Given the description of an element on the screen output the (x, y) to click on. 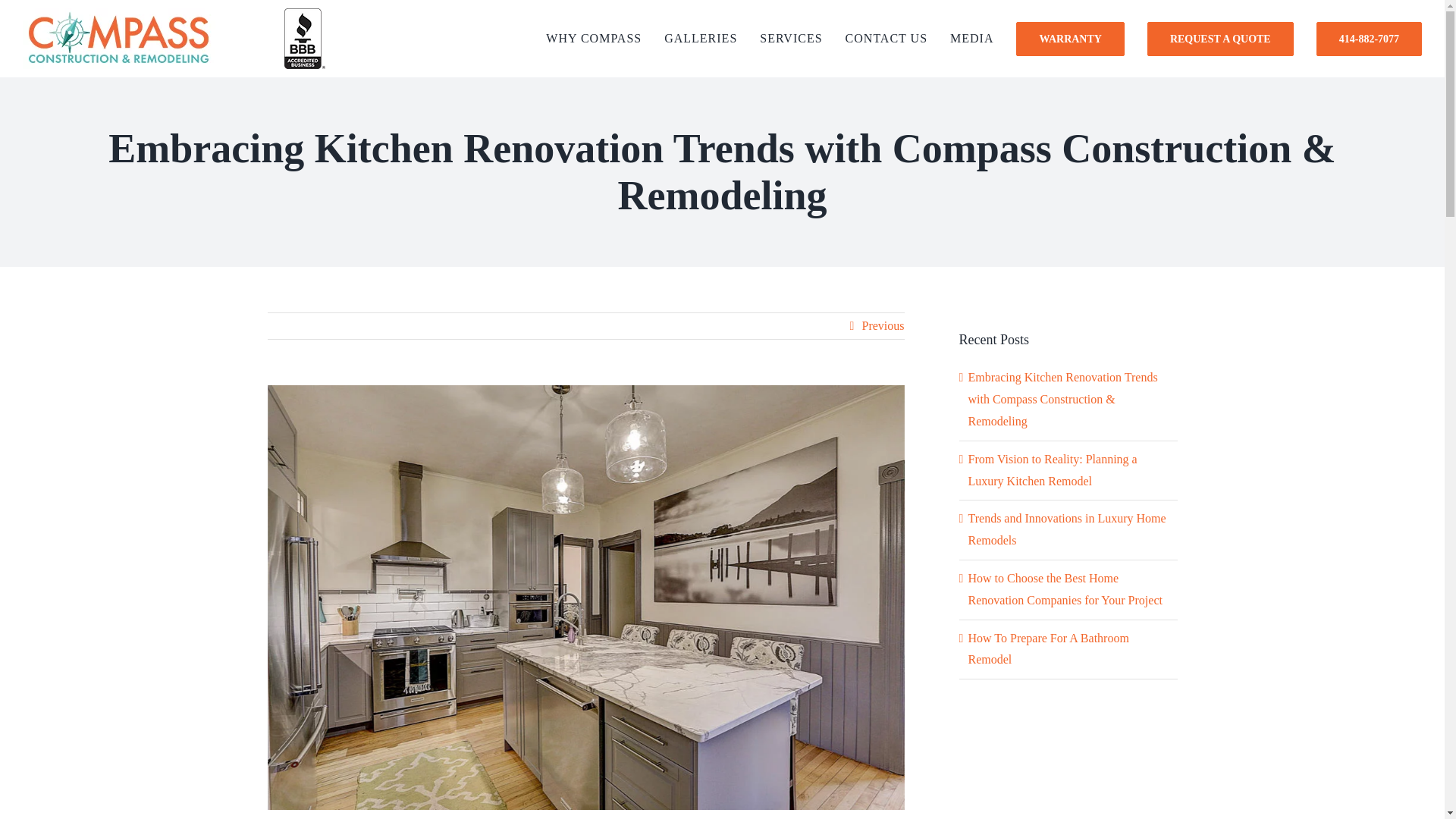
SERVICES (791, 38)
CONTACT US (886, 38)
WARRANTY (1070, 38)
MEDIA (971, 38)
REQUEST A QUOTE (1220, 38)
414-882-7077 (1369, 38)
GALLERIES (699, 38)
WHY COMPASS (594, 38)
